Given the description of an element on the screen output the (x, y) to click on. 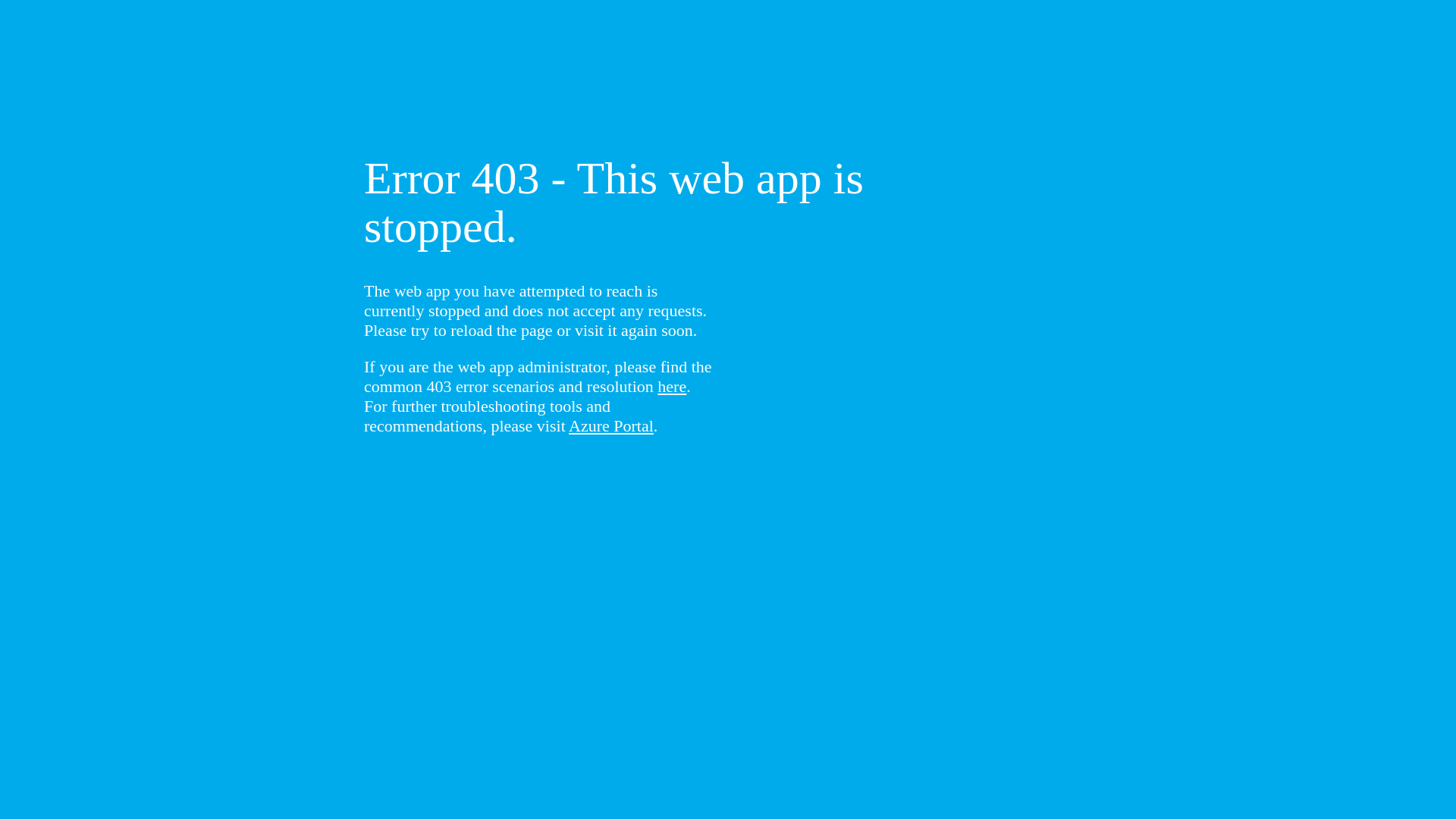
Azure Portal Element type: text (610, 425)
here Element type: text (671, 385)
